Given the description of an element on the screen output the (x, y) to click on. 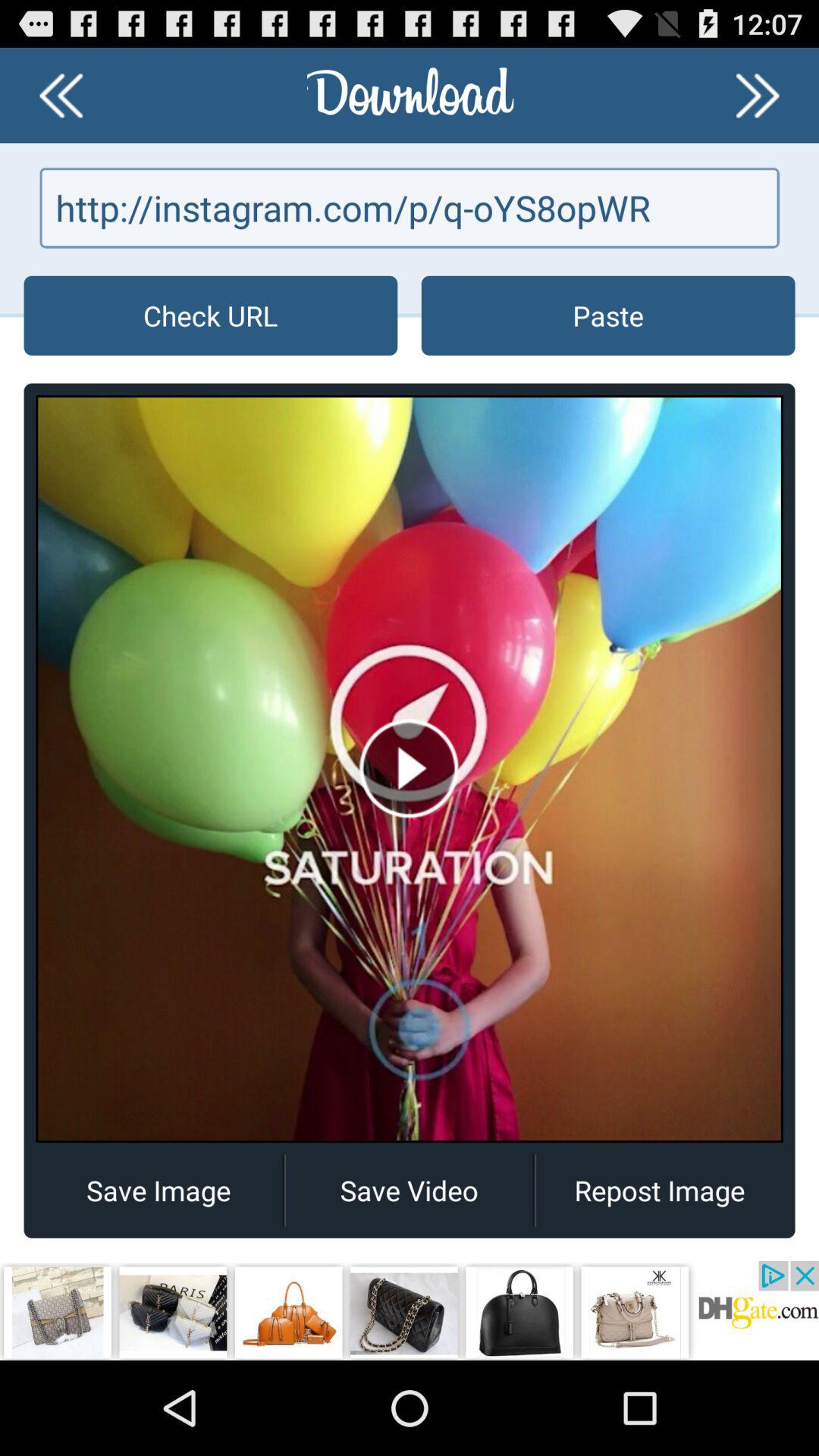
go to next page (757, 95)
